Given the description of an element on the screen output the (x, y) to click on. 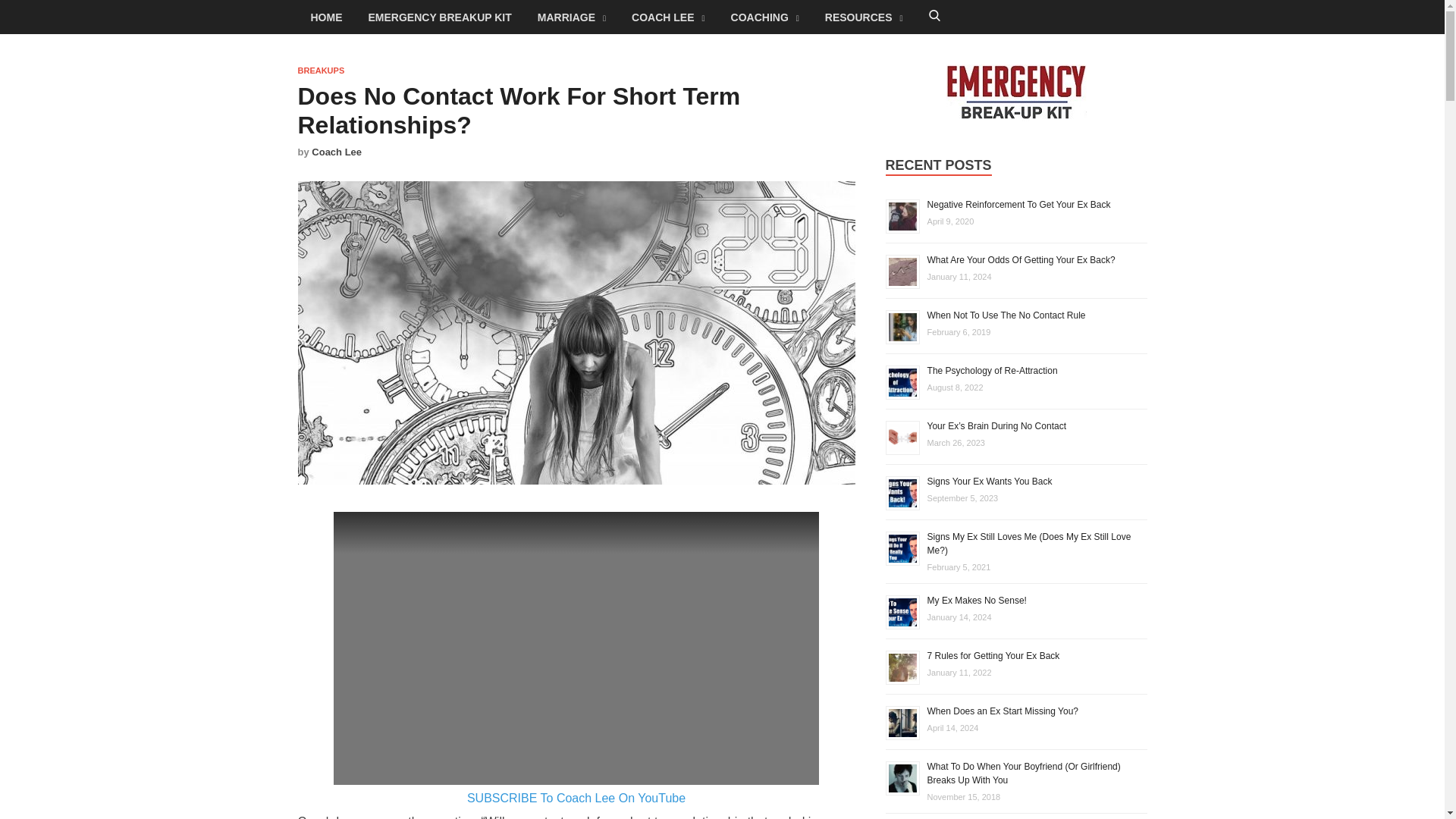
COACHING (764, 17)
MARRIAGE (571, 17)
RESOURCES (863, 17)
HOME (326, 17)
COACH LEE (667, 17)
EMERGENCY BREAKUP KIT (439, 17)
